Given the description of an element on the screen output the (x, y) to click on. 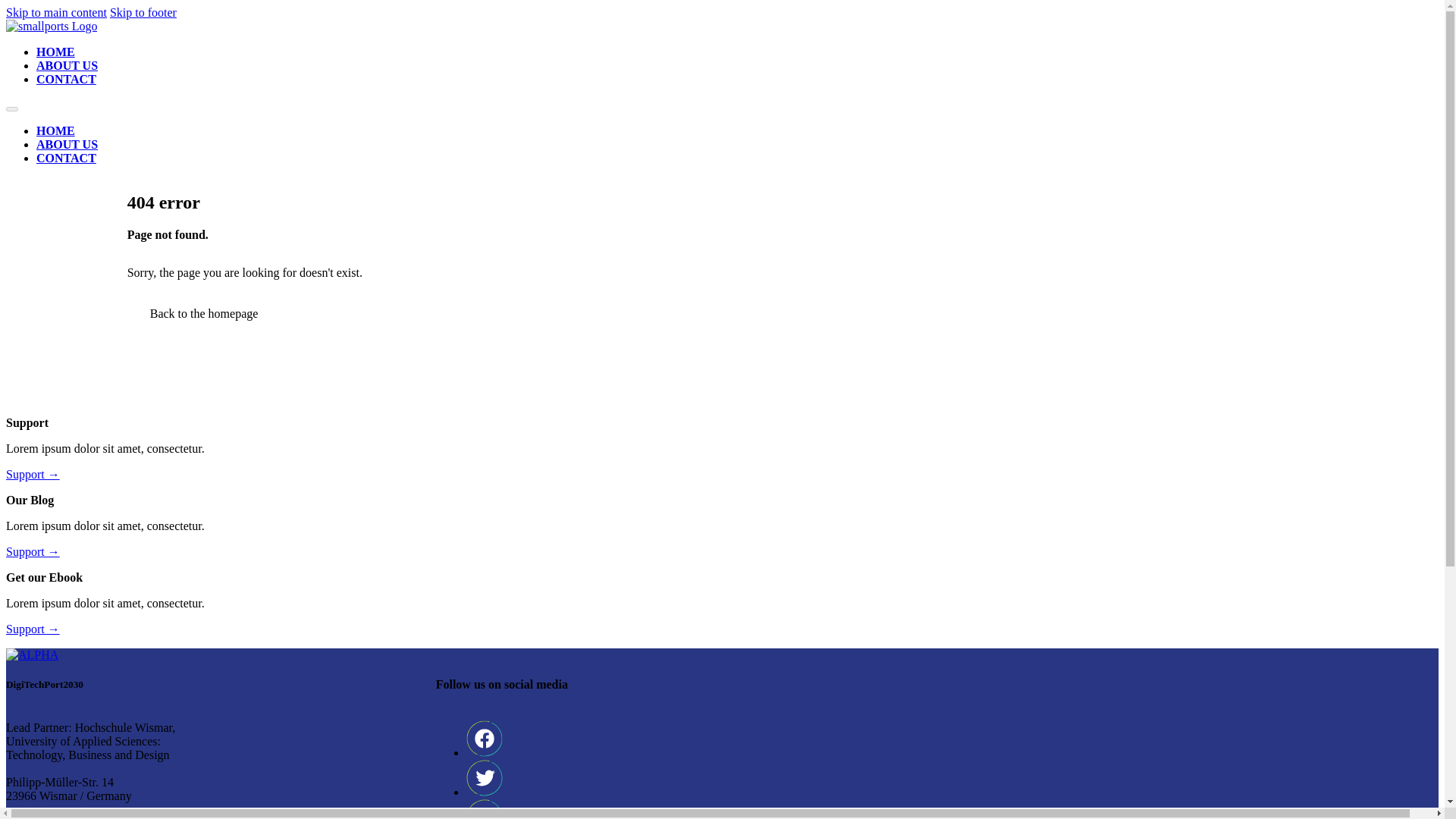
ABOUT US (66, 65)
CONTACT (66, 157)
Skip to footer (143, 11)
HOME (55, 51)
Skip to main content (55, 11)
ABOUT US (66, 144)
HOME (55, 130)
CONTACT (66, 78)
